Given the description of an element on the screen output the (x, y) to click on. 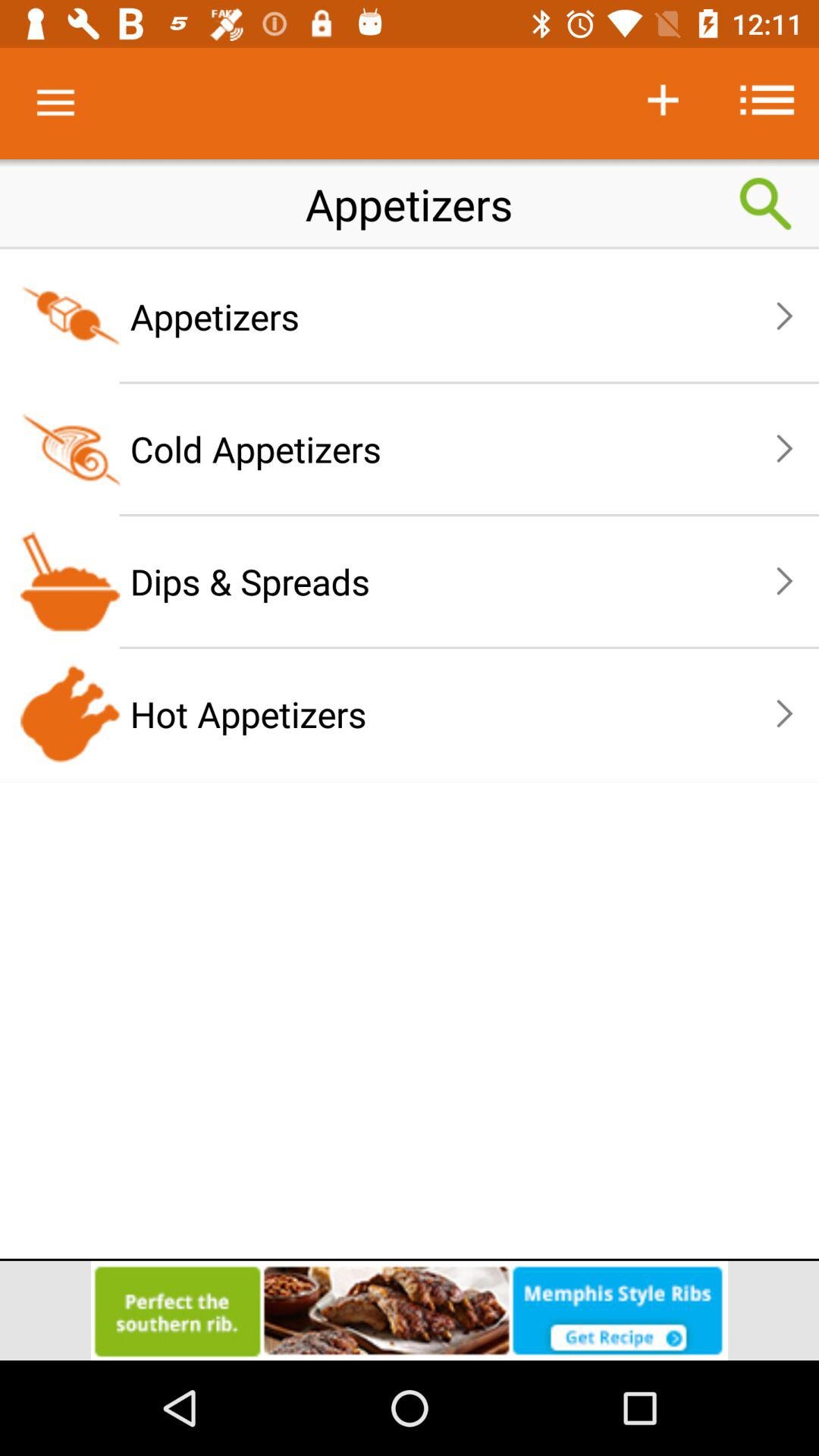
advertisement (409, 1310)
